Given the description of an element on the screen output the (x, y) to click on. 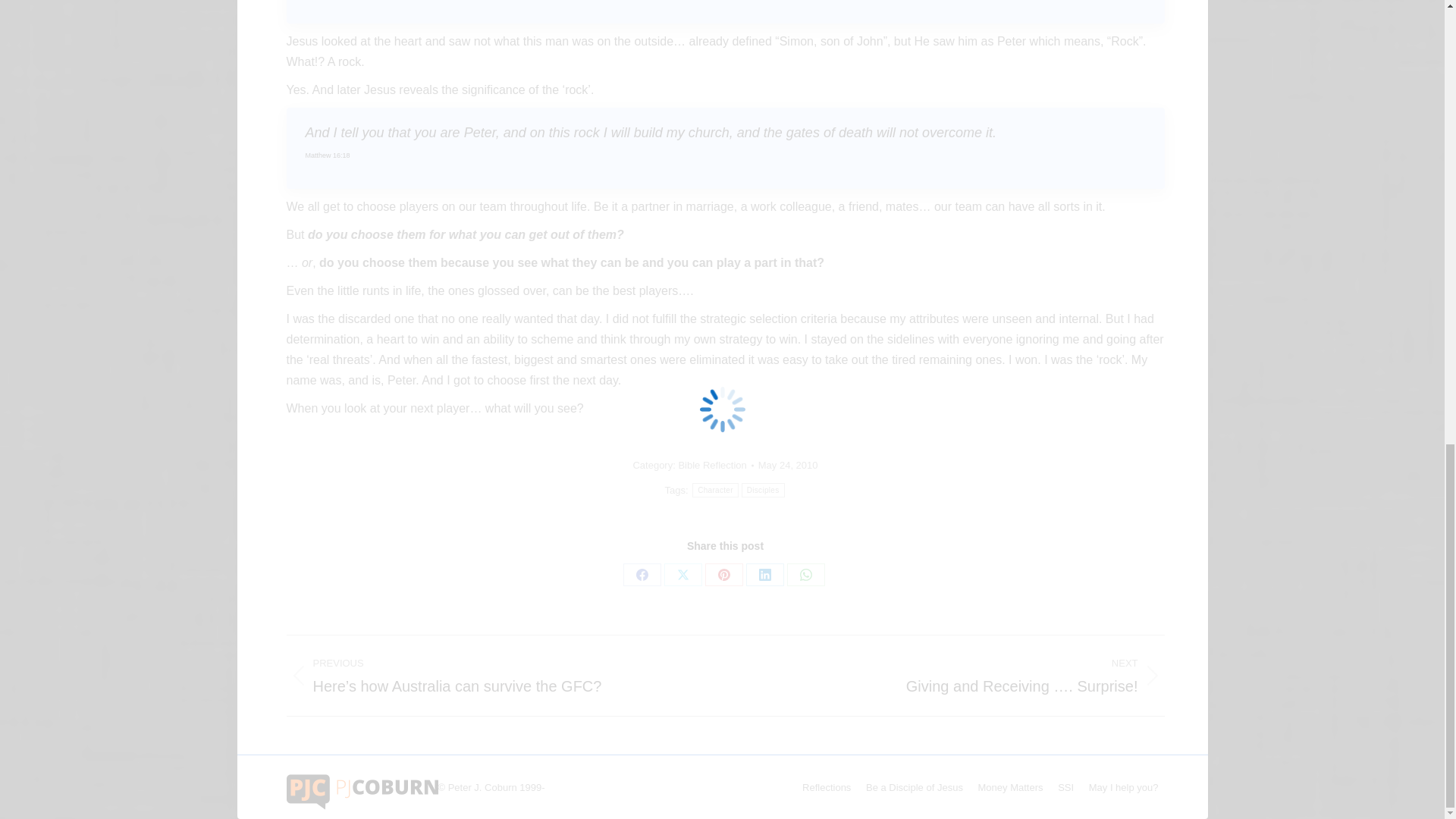
Pinterest (723, 574)
Facebook (642, 574)
X (682, 574)
Share on X (682, 574)
Character (715, 490)
Share on WhatsApp (806, 574)
Disciples (762, 490)
May 24, 2010 (788, 465)
SSI (1066, 787)
Be a Disciple of Jesus (914, 787)
